Given the description of an element on the screen output the (x, y) to click on. 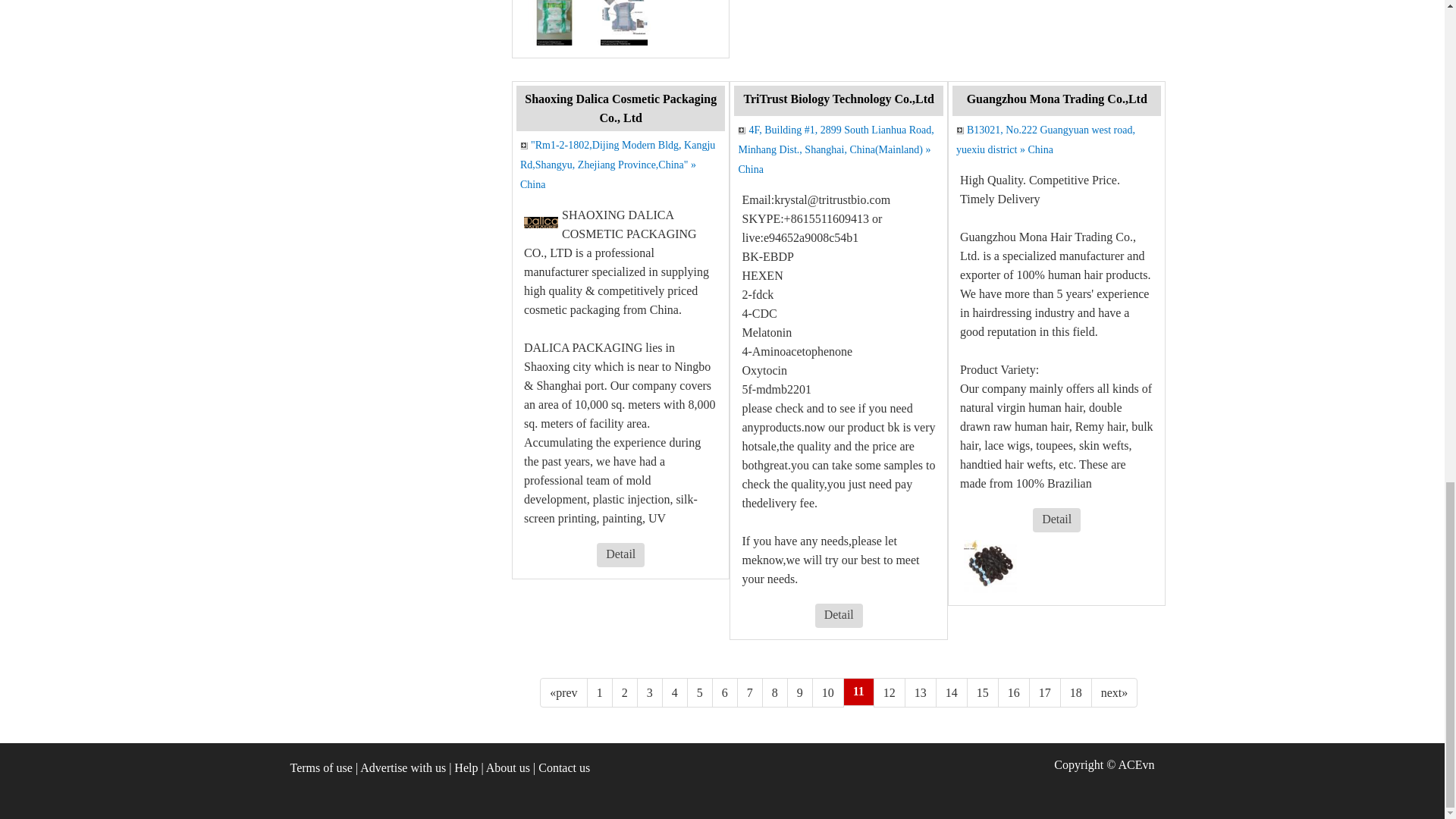
Shaoxing Dalica Cosmetic Packaging Co., Ltd (620, 108)
Detail (620, 553)
TriTrust Biology Technology Co.,Ltd (837, 98)
Detail (620, 554)
Detail (839, 614)
